Given the description of an element on the screen output the (x, y) to click on. 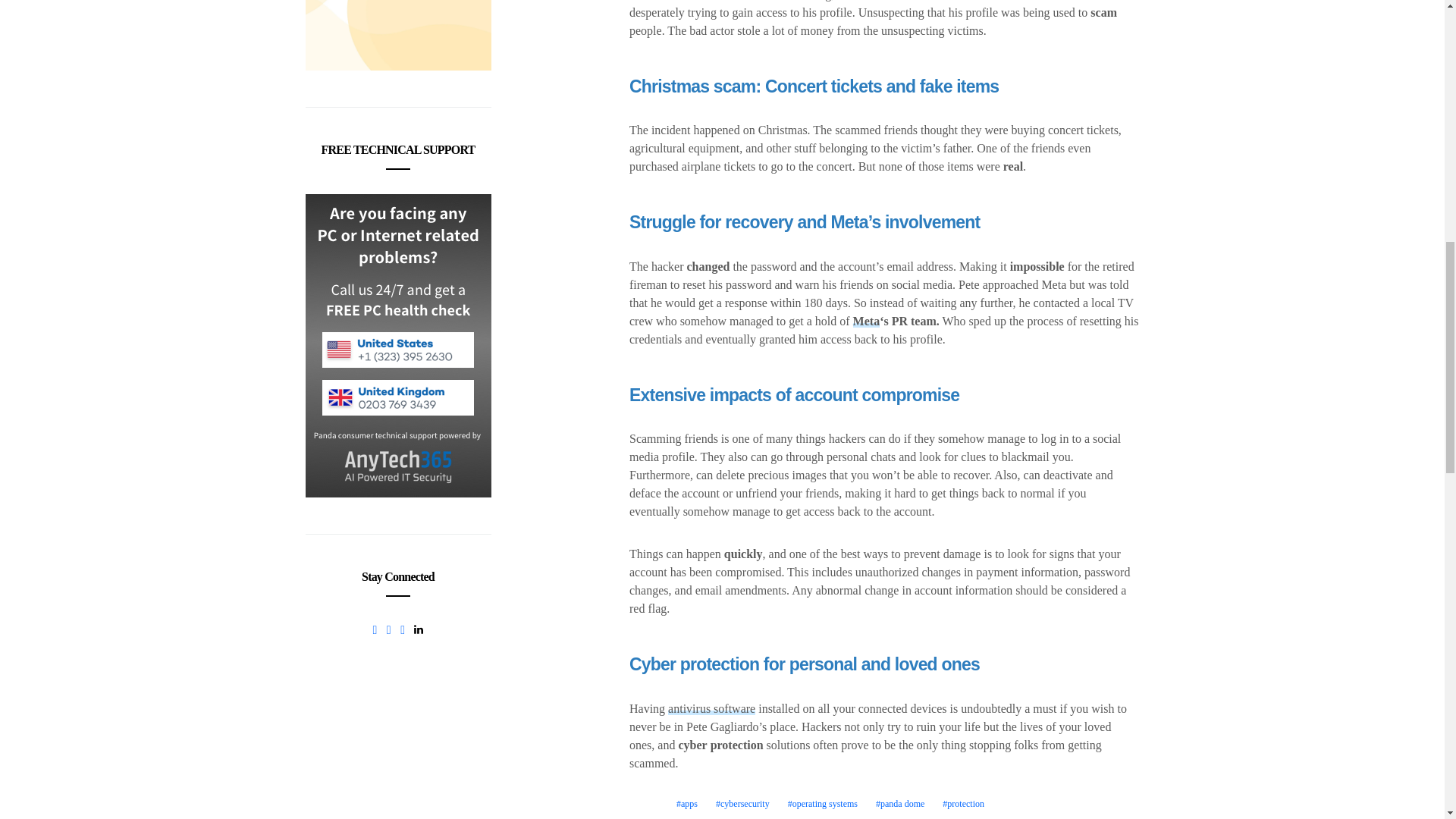
apps (686, 803)
antivirus software (711, 707)
Meta (866, 320)
Dome Free Antivirus (397, 34)
cybersecurity (743, 803)
